Given the description of an element on the screen output the (x, y) to click on. 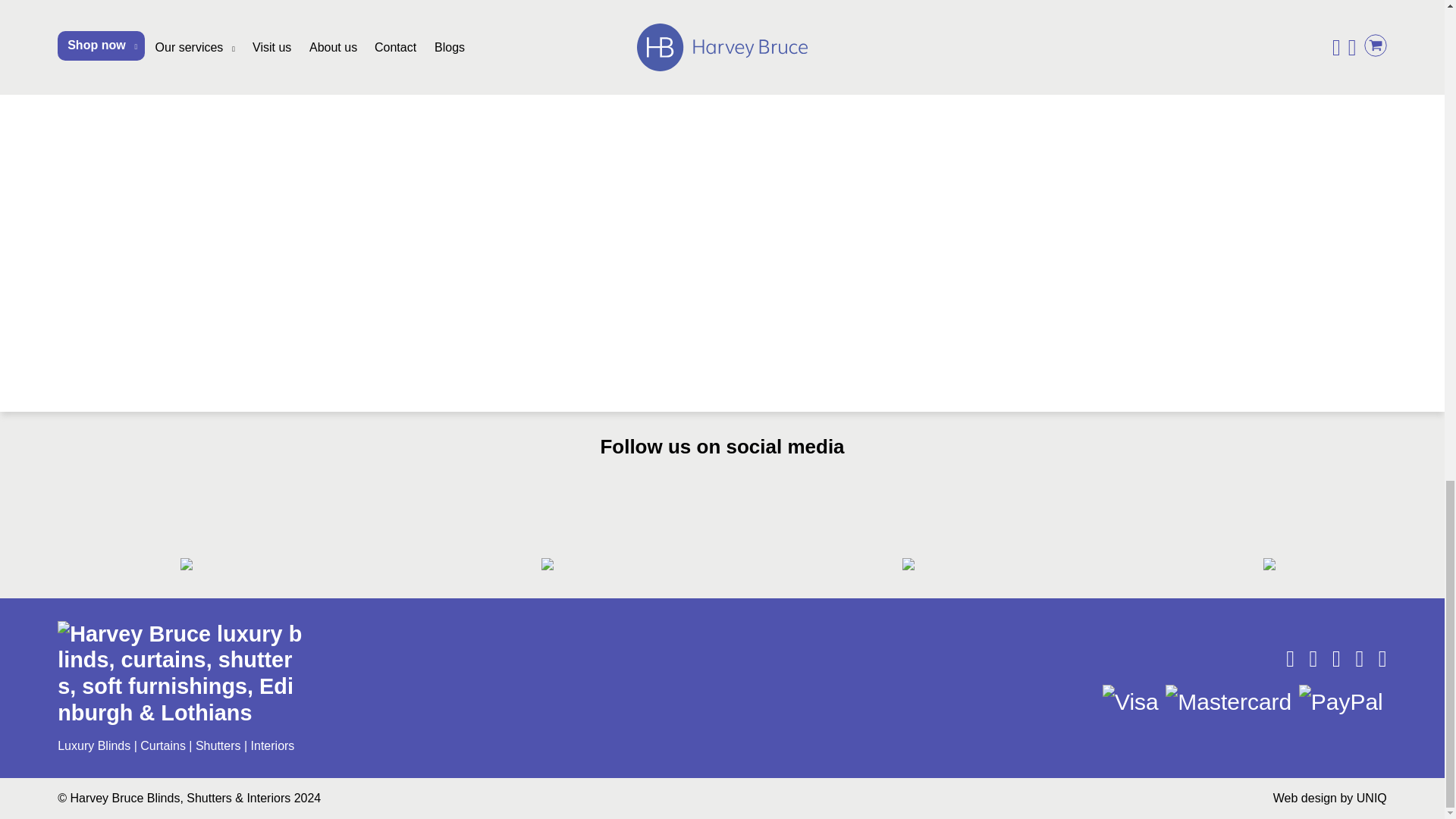
Visa (1130, 701)
PayPal (1340, 701)
Mastercard (1228, 701)
